Given the description of an element on the screen output the (x, y) to click on. 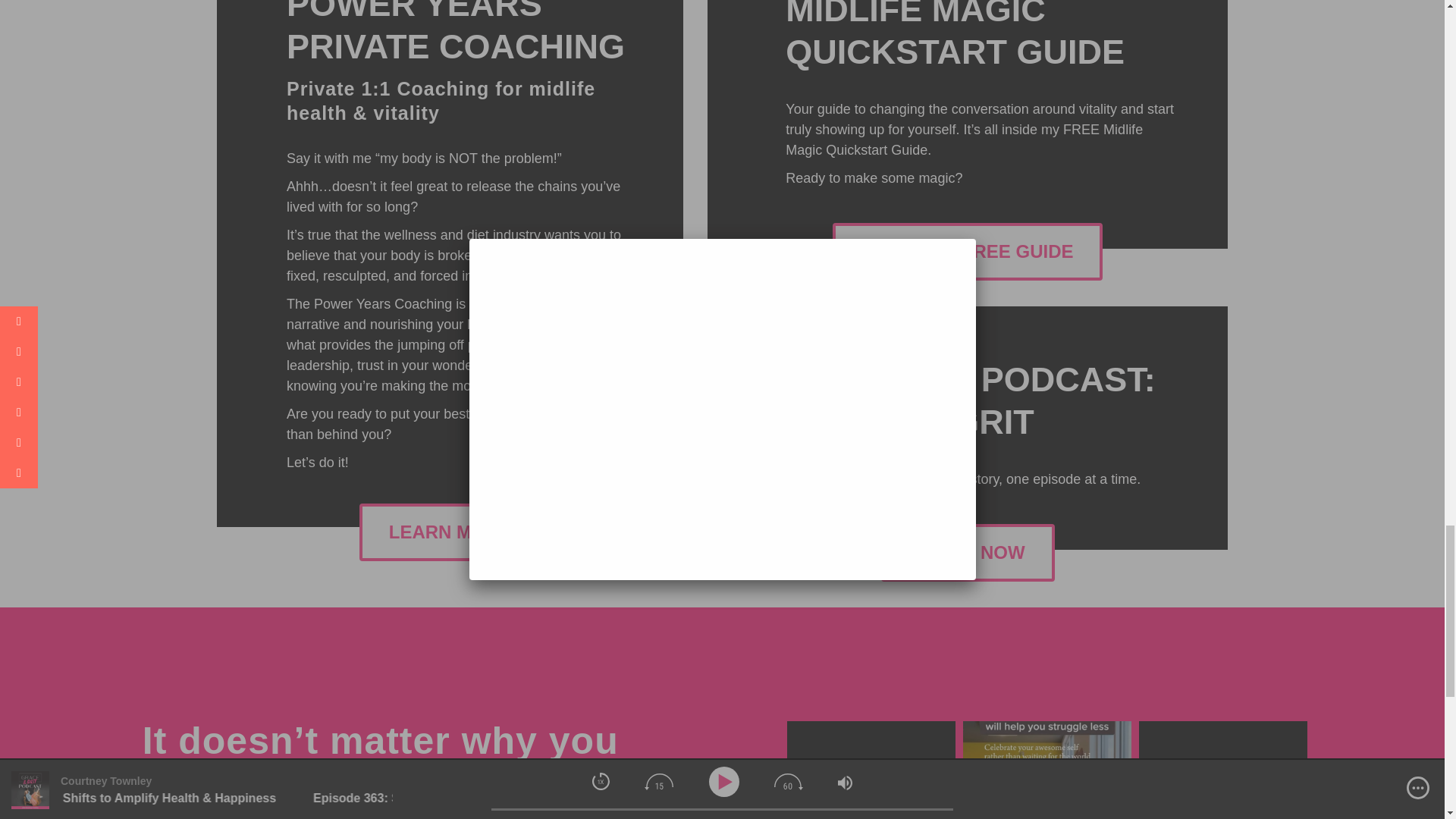
Midlife Magic Quickstart Guide (955, 35)
Power Years Private Coaching (455, 33)
